Given the description of an element on the screen output the (x, y) to click on. 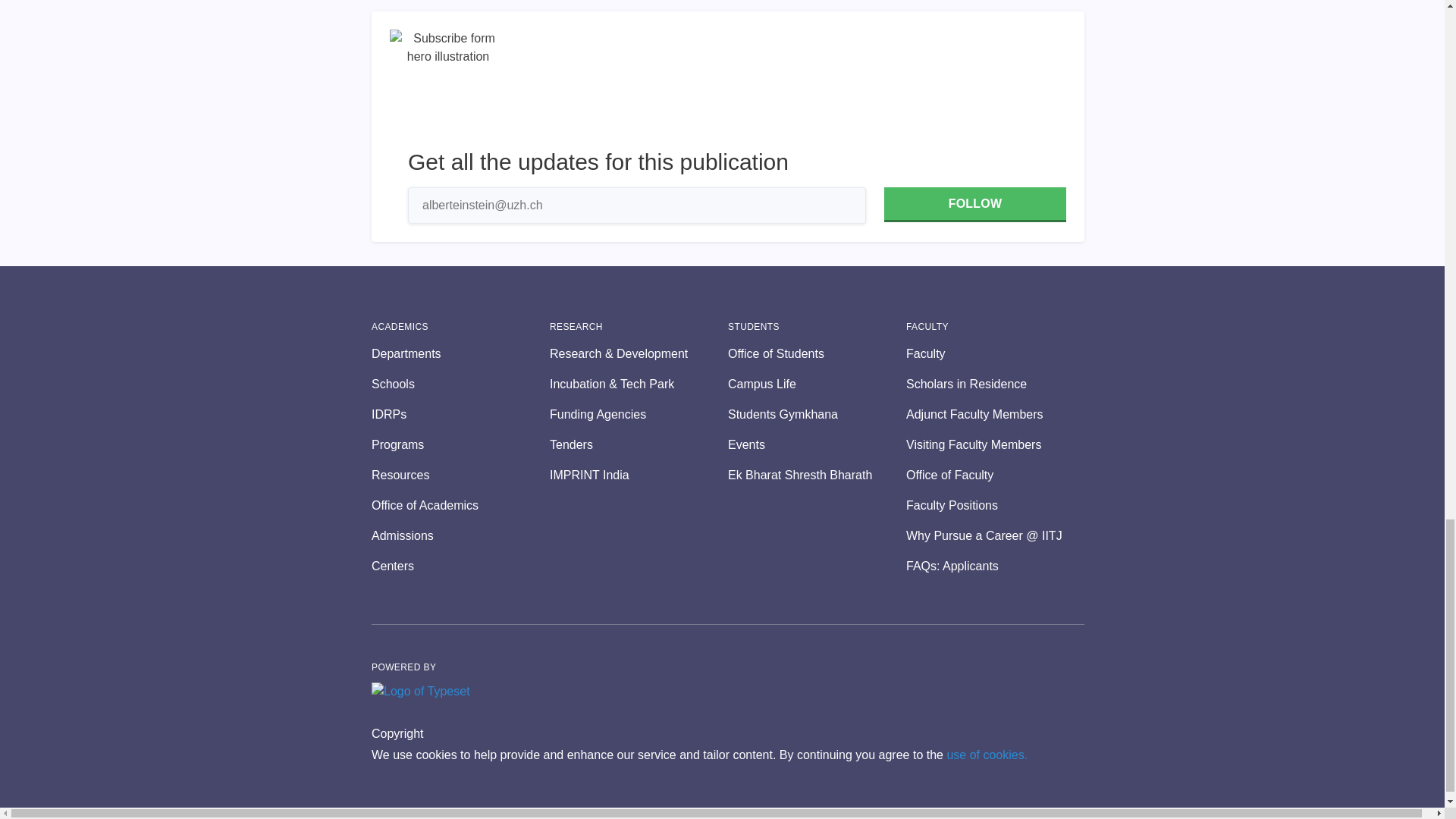
IMPRINT India (639, 475)
Funding Agencies (639, 414)
Tenders (639, 444)
Admissions (460, 536)
Departments (460, 353)
Centers (460, 566)
Programs (460, 444)
Office of Academics (460, 505)
Resources (460, 475)
Logo of Typeset (420, 691)
